Given the description of an element on the screen output the (x, y) to click on. 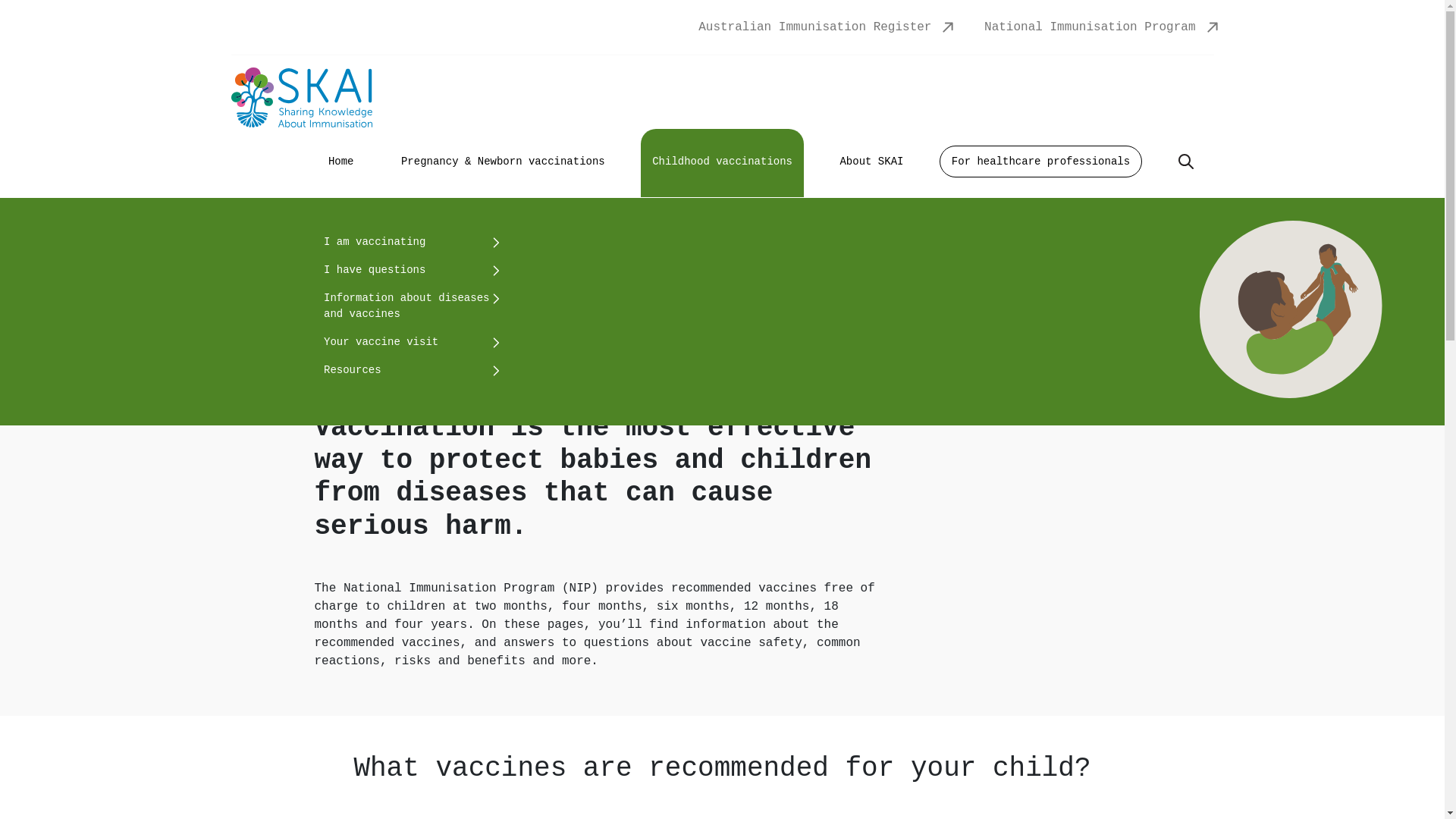
Resources Element type: text (409, 370)
Your vaccine visit Element type: text (409, 342)
I have questions Element type: text (409, 270)
Information about diseases and vaccines Element type: text (409, 306)
National Immunisation Program Element type: text (1089, 27)
Pregnancy & Newborn vaccinations Element type: text (502, 161)
Home Element type: text (340, 161)
Australian Immunisation Register Element type: text (814, 27)
For healthcare professionals Element type: text (1040, 161)
I am vaccinating Element type: text (409, 242)
About SKAI Element type: text (871, 161)
Childhood vaccinations Element type: text (721, 162)
